Given the description of an element on the screen output the (x, y) to click on. 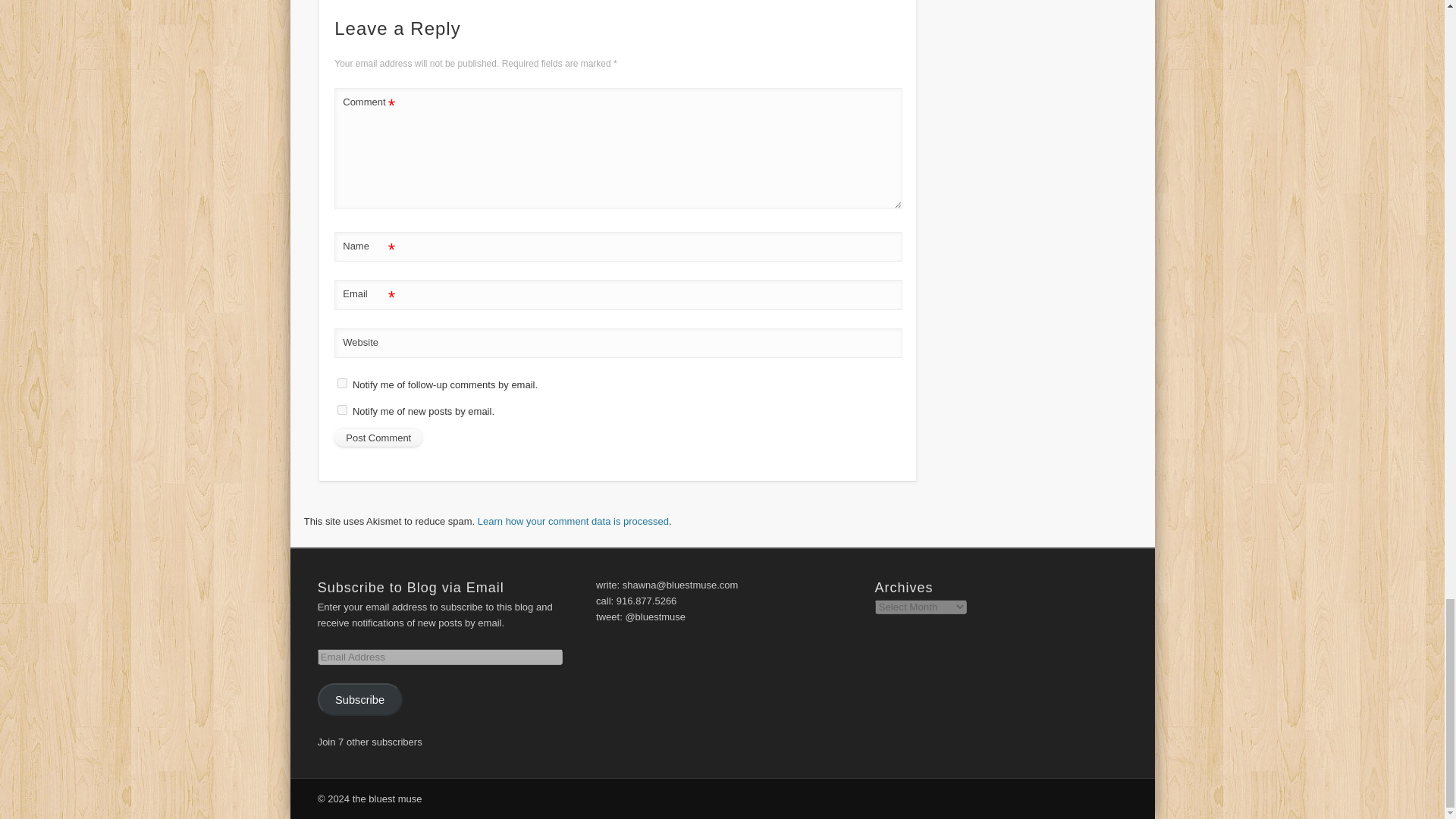
subscribe (342, 409)
subscribe (342, 383)
Post Comment (378, 438)
